Given the description of an element on the screen output the (x, y) to click on. 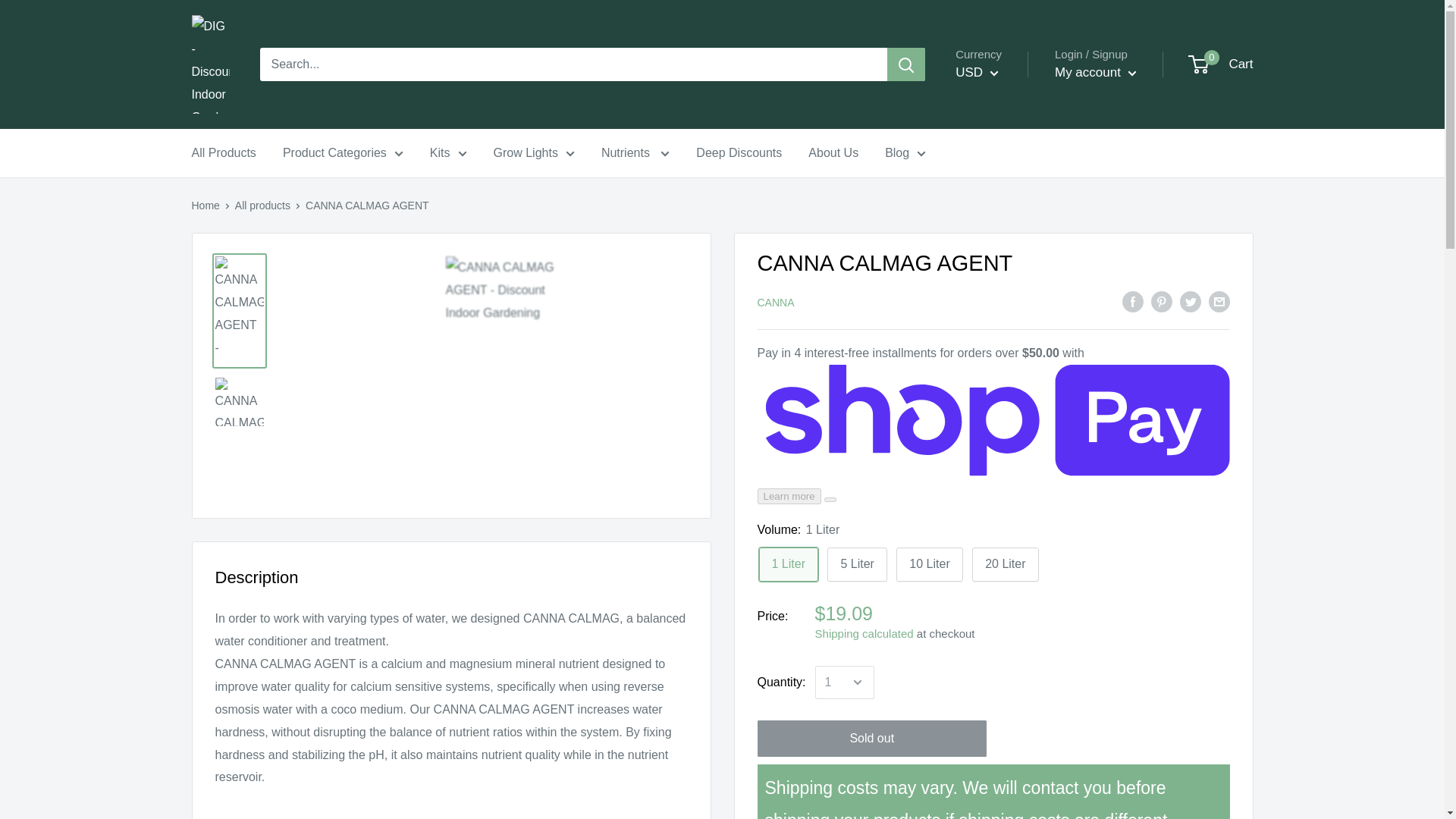
10 Liter (929, 564)
1 Liter (787, 564)
20 Liter (1005, 564)
5 Liter (856, 564)
